Given the description of an element on the screen output the (x, y) to click on. 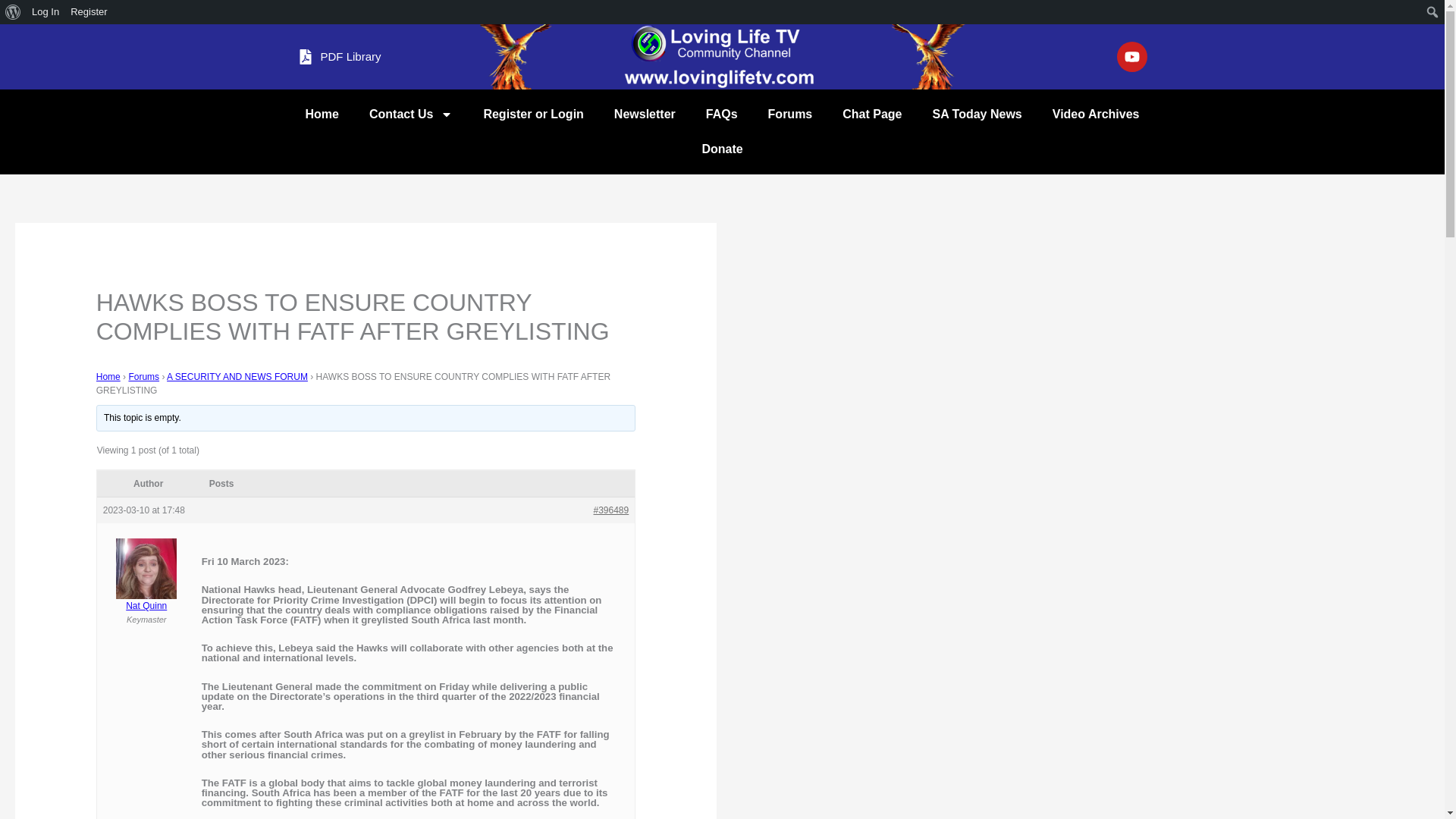
Register (89, 12)
Home (108, 376)
SA Today News (976, 114)
View Nat Quinn's profile (146, 584)
Contact Us (410, 114)
PDF Library (338, 56)
Nat Quinn (146, 584)
Forums (143, 376)
Home (321, 114)
FAQs (721, 114)
Search (15, 12)
Log In (45, 12)
Video Archives (1095, 114)
Newsletter (644, 114)
Donate (721, 149)
